Given the description of an element on the screen output the (x, y) to click on. 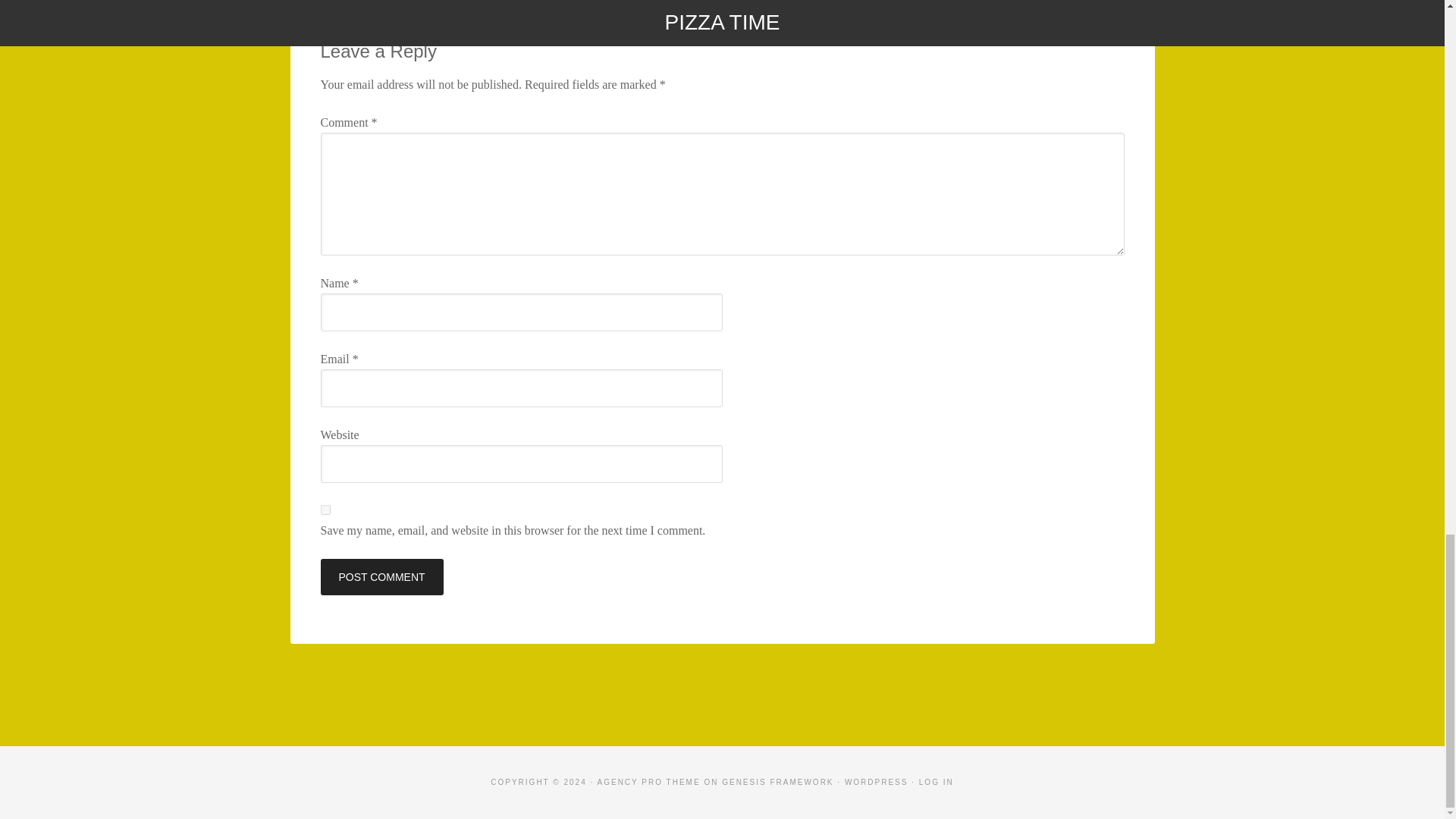
WORDPRESS (876, 782)
LOG IN (935, 782)
yes (325, 510)
GENESIS FRAMEWORK (777, 782)
Post Comment (381, 576)
AGENCY PRO THEME (648, 782)
Post Comment (381, 576)
